Given the description of an element on the screen output the (x, y) to click on. 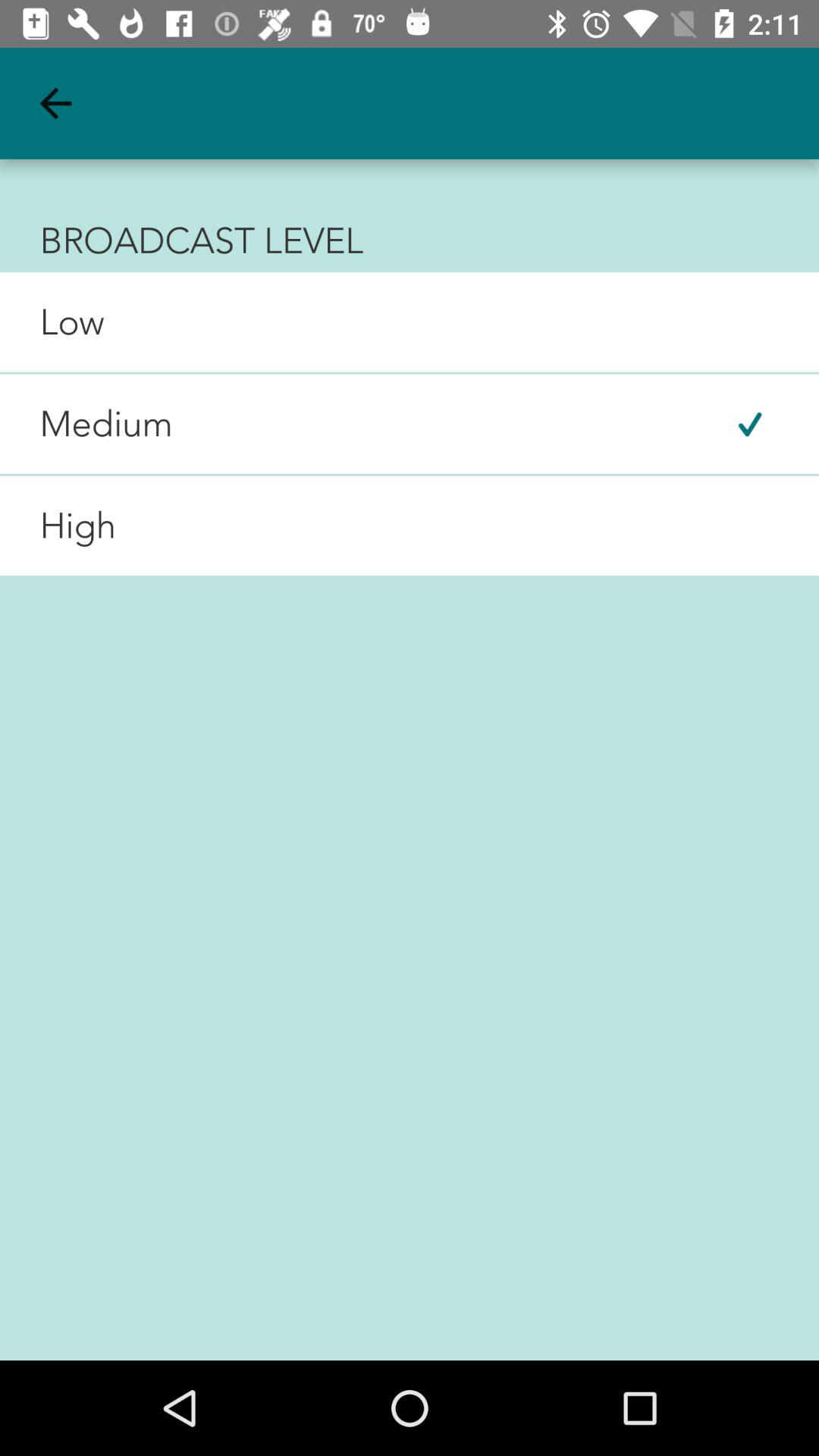
launch item below the broadcast level (52, 321)
